Given the description of an element on the screen output the (x, y) to click on. 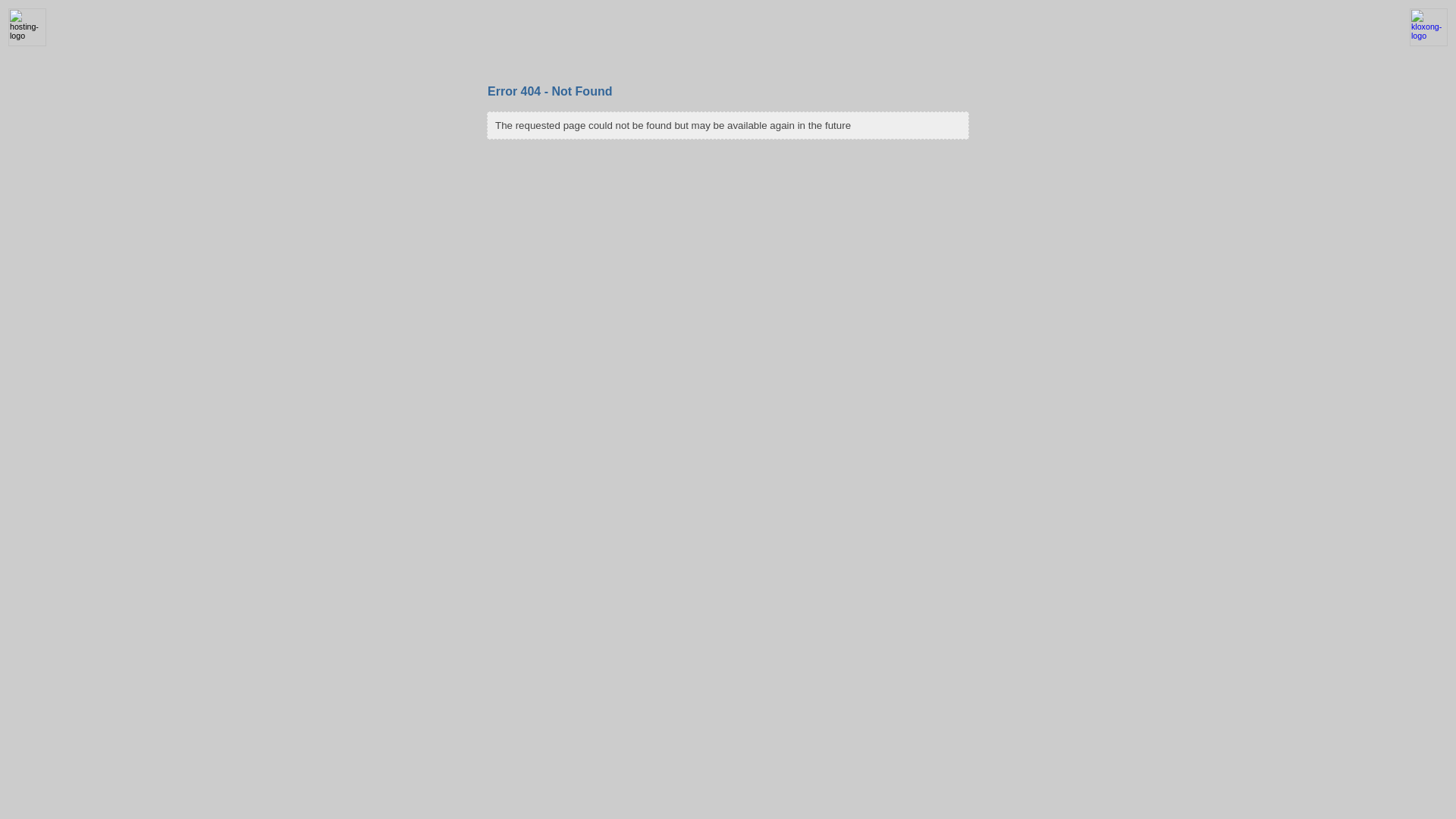
KloxoNG website Element type: hover (1428, 42)
